Given the description of an element on the screen output the (x, y) to click on. 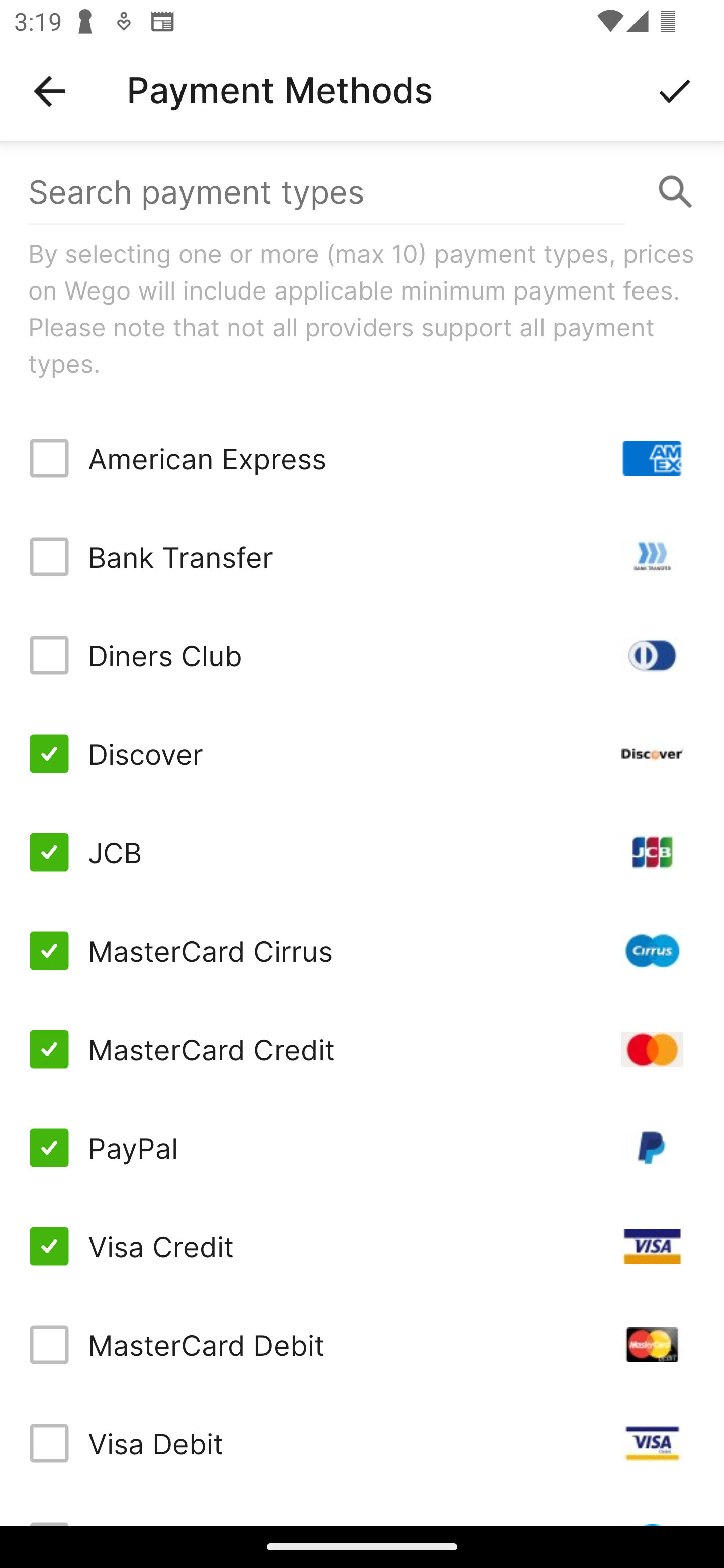
Search payment types  (361, 191)
American Express (362, 458)
Bank Transfer (362, 557)
Diners Club (362, 655)
Discover (362, 753)
JCB (362, 851)
MasterCard Cirrus (362, 950)
MasterCard Credit (362, 1049)
PayPal (362, 1147)
Visa Credit (362, 1245)
MasterCard Debit (362, 1344)
Visa Debit (362, 1442)
